Given the description of an element on the screen output the (x, y) to click on. 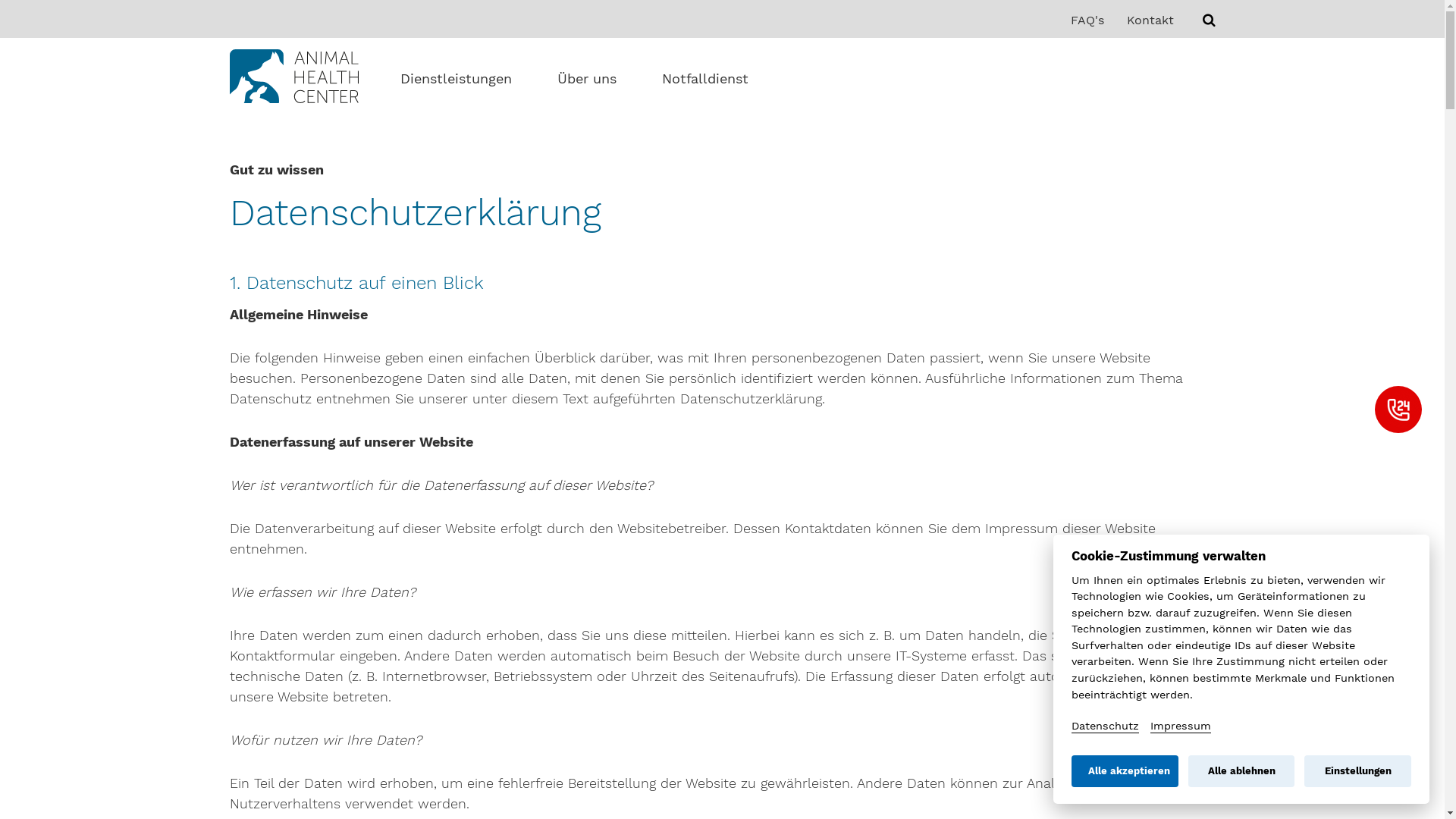
FAQ's Element type: text (1087, 18)
Impressum Element type: text (1180, 725)
Alle akzeptieren Element type: text (1124, 771)
Notfalldienst Element type: text (704, 79)
Datenschutz Element type: text (1105, 725)
Dienstleistungen Element type: text (455, 79)
Einstellungen Element type: text (1357, 771)
Kontakt Element type: text (1149, 18)
Alle ablehnen Element type: text (1241, 771)
